Given the description of an element on the screen output the (x, y) to click on. 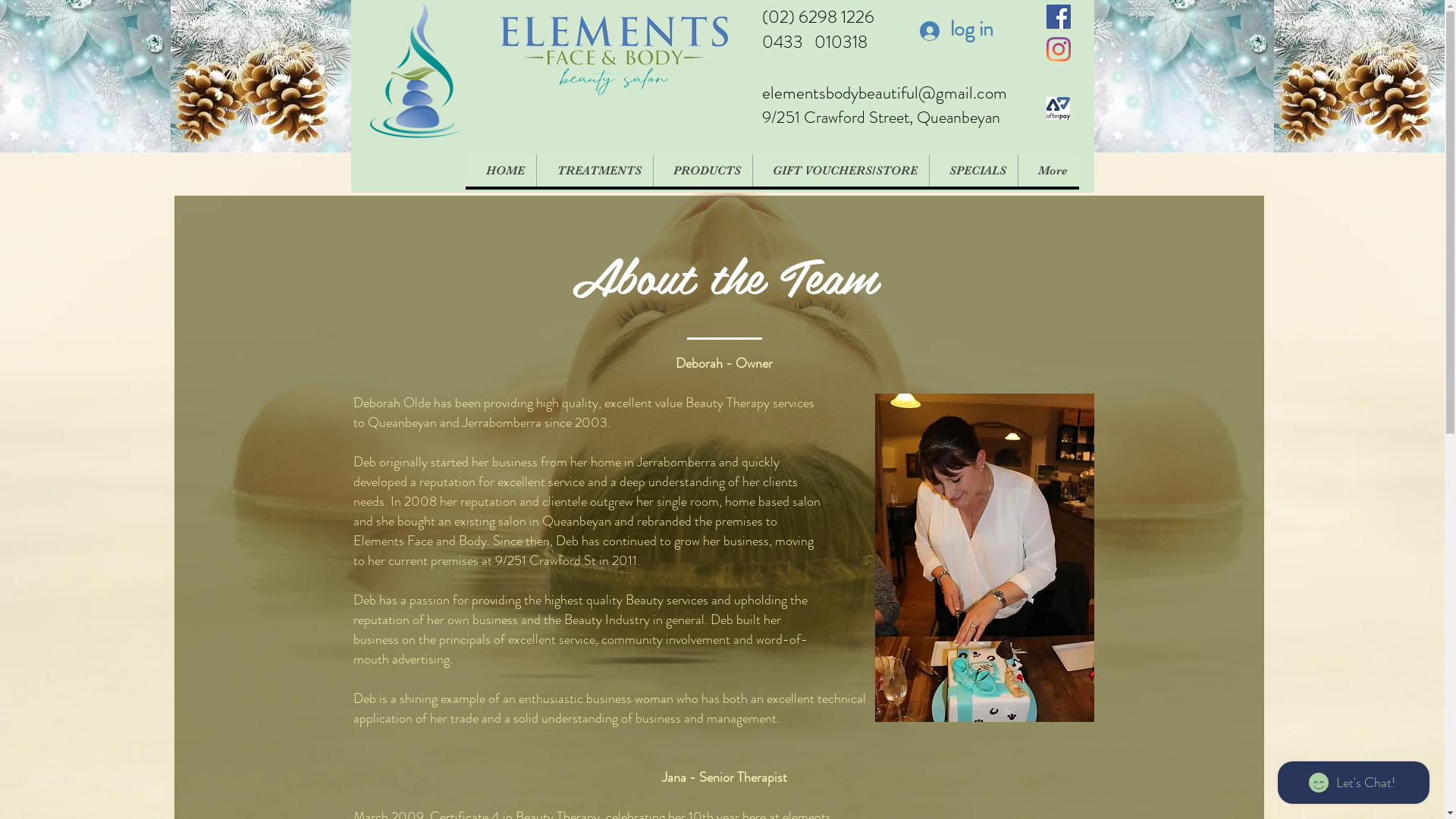
TREATMENTS Element type: text (593, 170)
PRODUCTS Element type: text (701, 170)
HOME Element type: text (500, 170)
elementsbodybeautiful@gmail.com Element type: text (883, 92)
log in Element type: text (946, 28)
SPECIALS Element type: text (972, 170)
GIFT VOUCHERS/STORE Element type: text (840, 170)
